Given the description of an element on the screen output the (x, y) to click on. 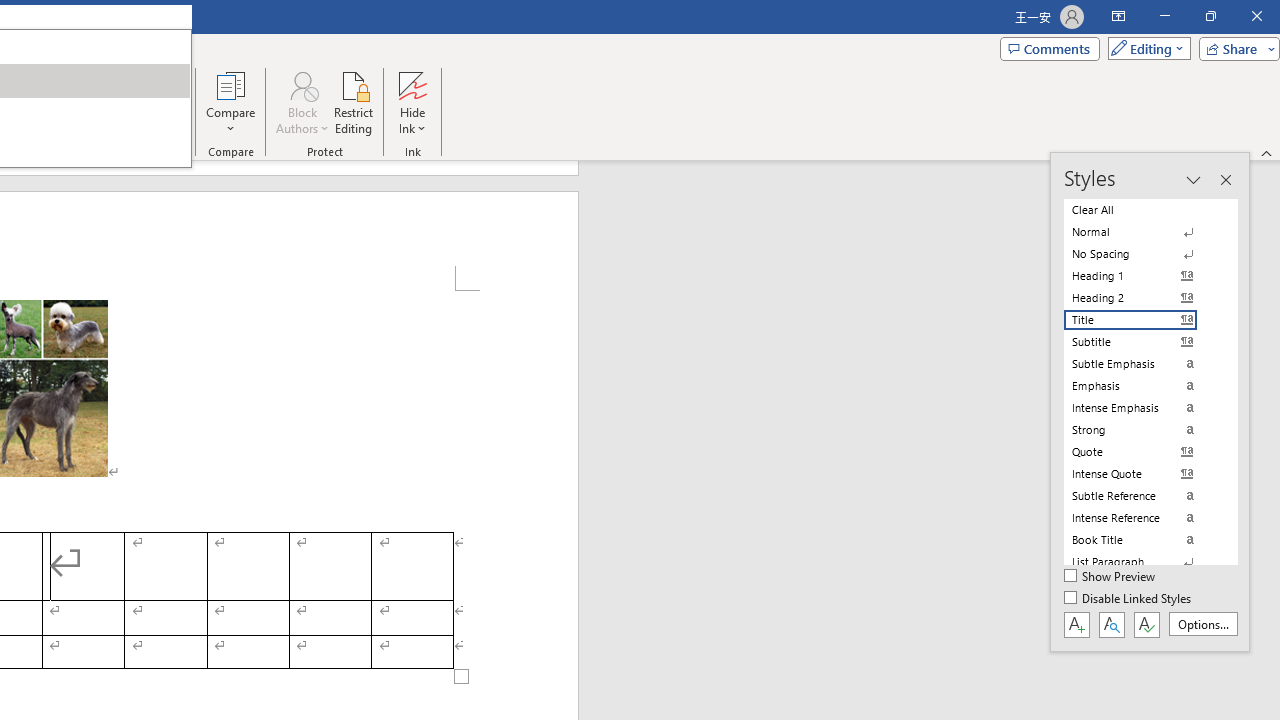
Book Title (1142, 539)
Close pane (1225, 179)
Show Preview (1110, 577)
Normal (1142, 232)
No Spacing (1142, 253)
Strong (1142, 429)
Title (1142, 319)
Hide Ink (412, 84)
Heading 2 (1142, 297)
Comments (1049, 48)
Reject and Move to Next (92, 84)
Reject (92, 102)
Accept (50, 102)
Share (1235, 48)
More Options (412, 121)
